Given the description of an element on the screen output the (x, y) to click on. 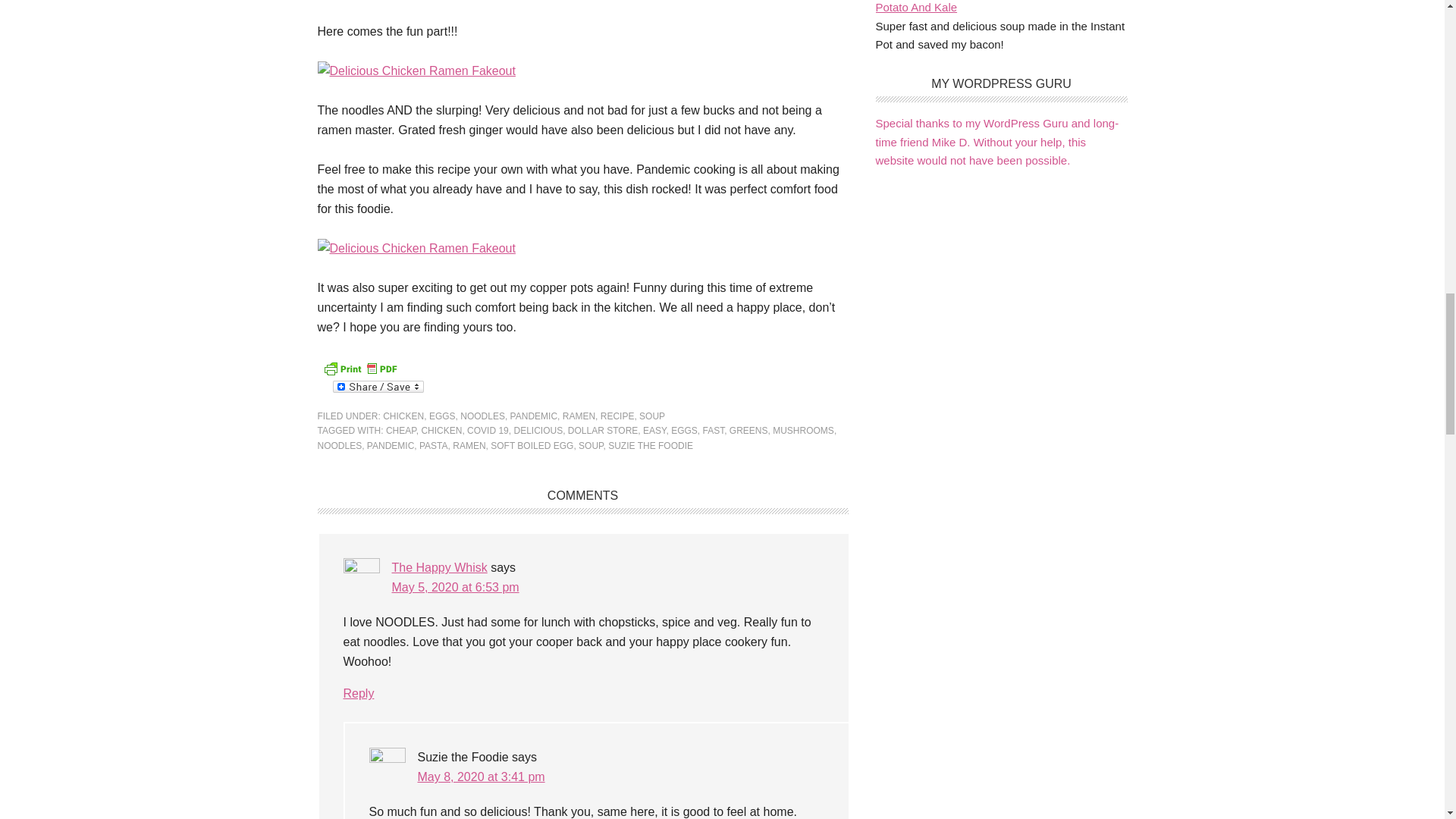
NOODLES (482, 416)
RECIPE (616, 416)
RAMEN (578, 416)
PANDEMIC (534, 416)
CHICKEN (402, 416)
EGGS (442, 416)
